Given the description of an element on the screen output the (x, y) to click on. 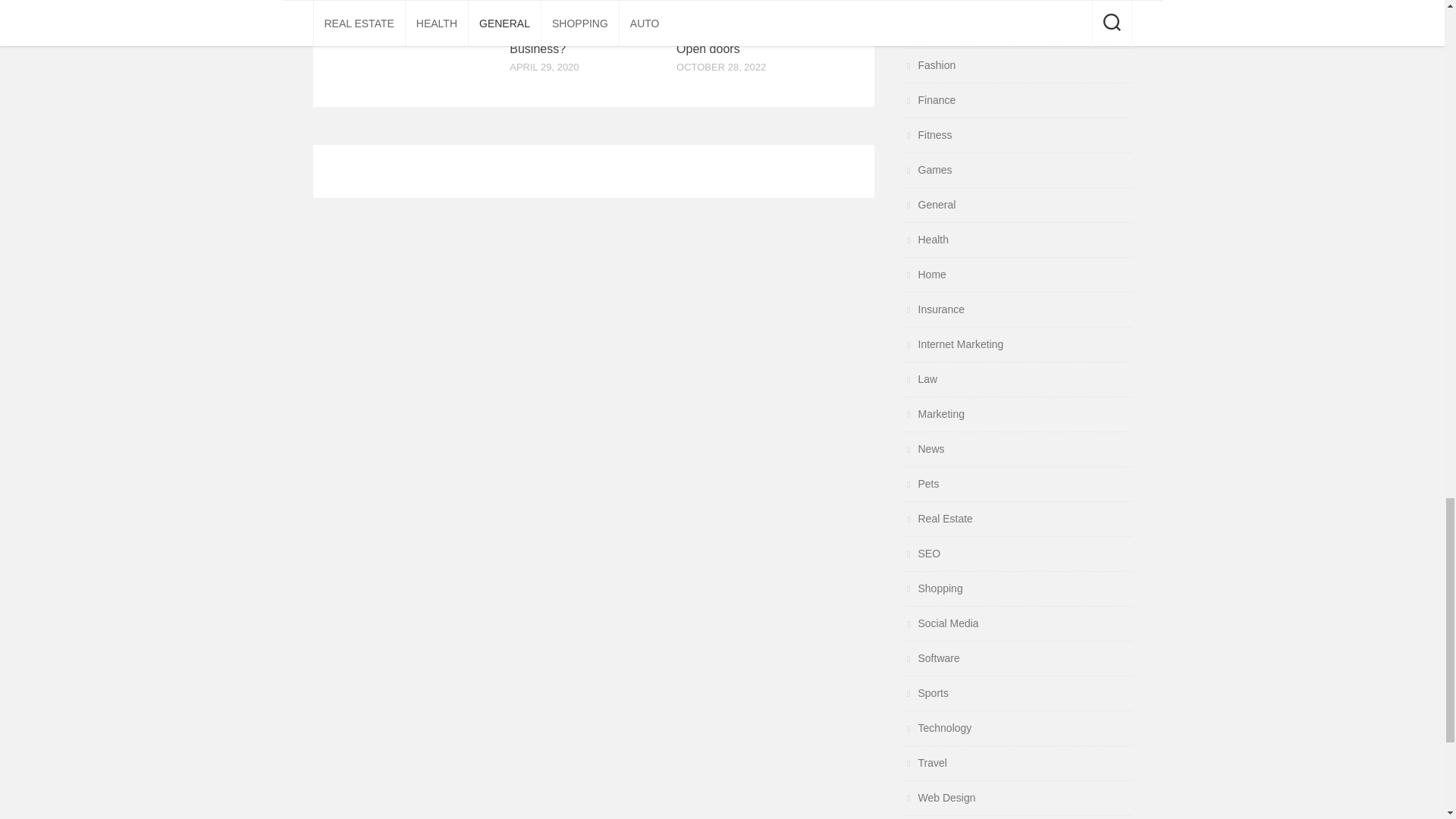
Nursing Jobs guidance and great Career Opportunities (415, 9)
Education (933, 0)
Nutritional Supplement Offer Different Wholesaler Open doors (746, 30)
